Given the description of an element on the screen output the (x, y) to click on. 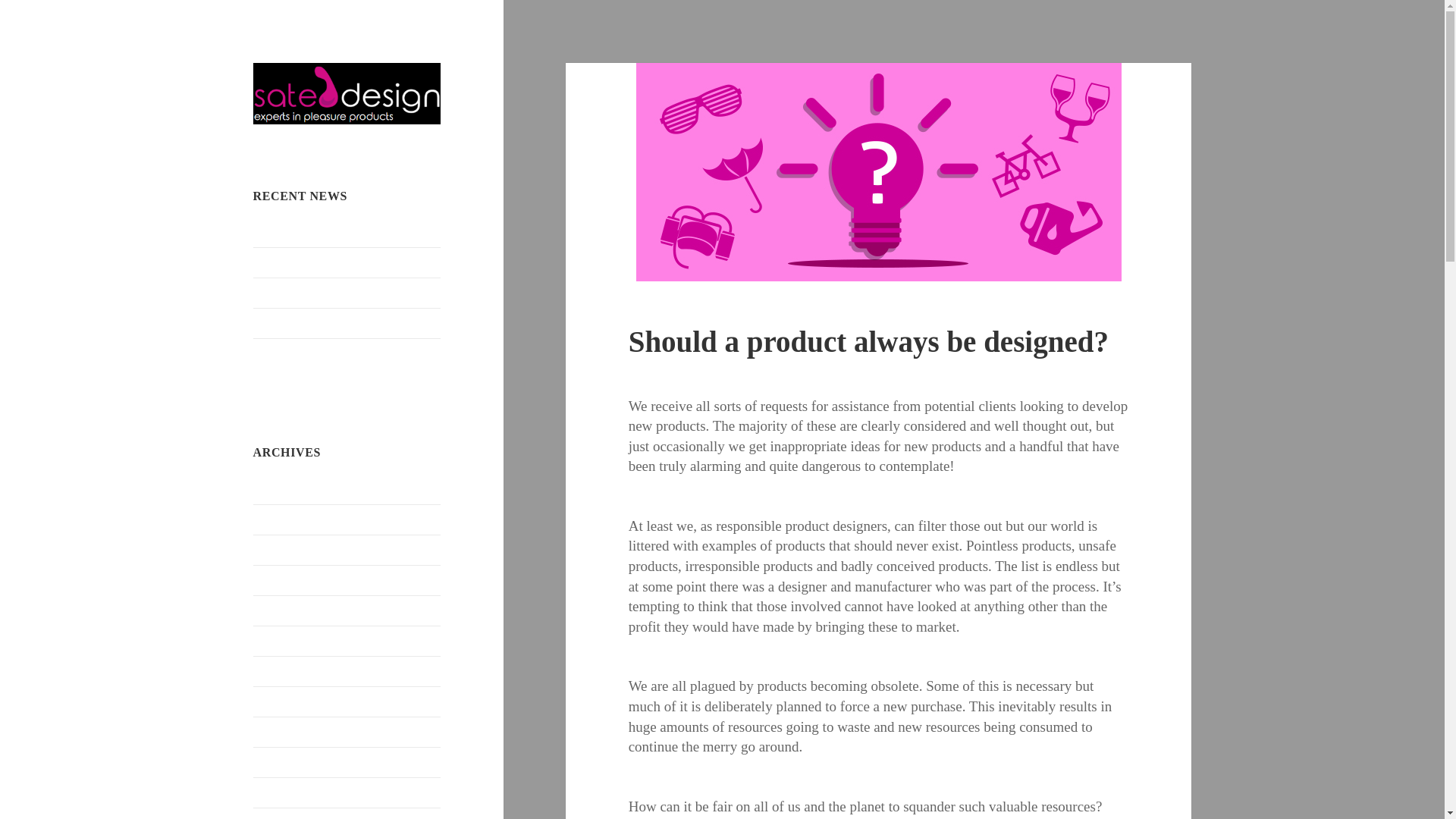
March 2023 (283, 640)
January 2023 (285, 700)
Here be Monsters! (298, 292)
February 2023 (288, 670)
July 2023 (277, 549)
June 2023 (277, 579)
Sated Design (309, 136)
Product Safety Consultation (321, 262)
April 2022 (279, 817)
December 2022 (291, 730)
